Given the description of an element on the screen output the (x, y) to click on. 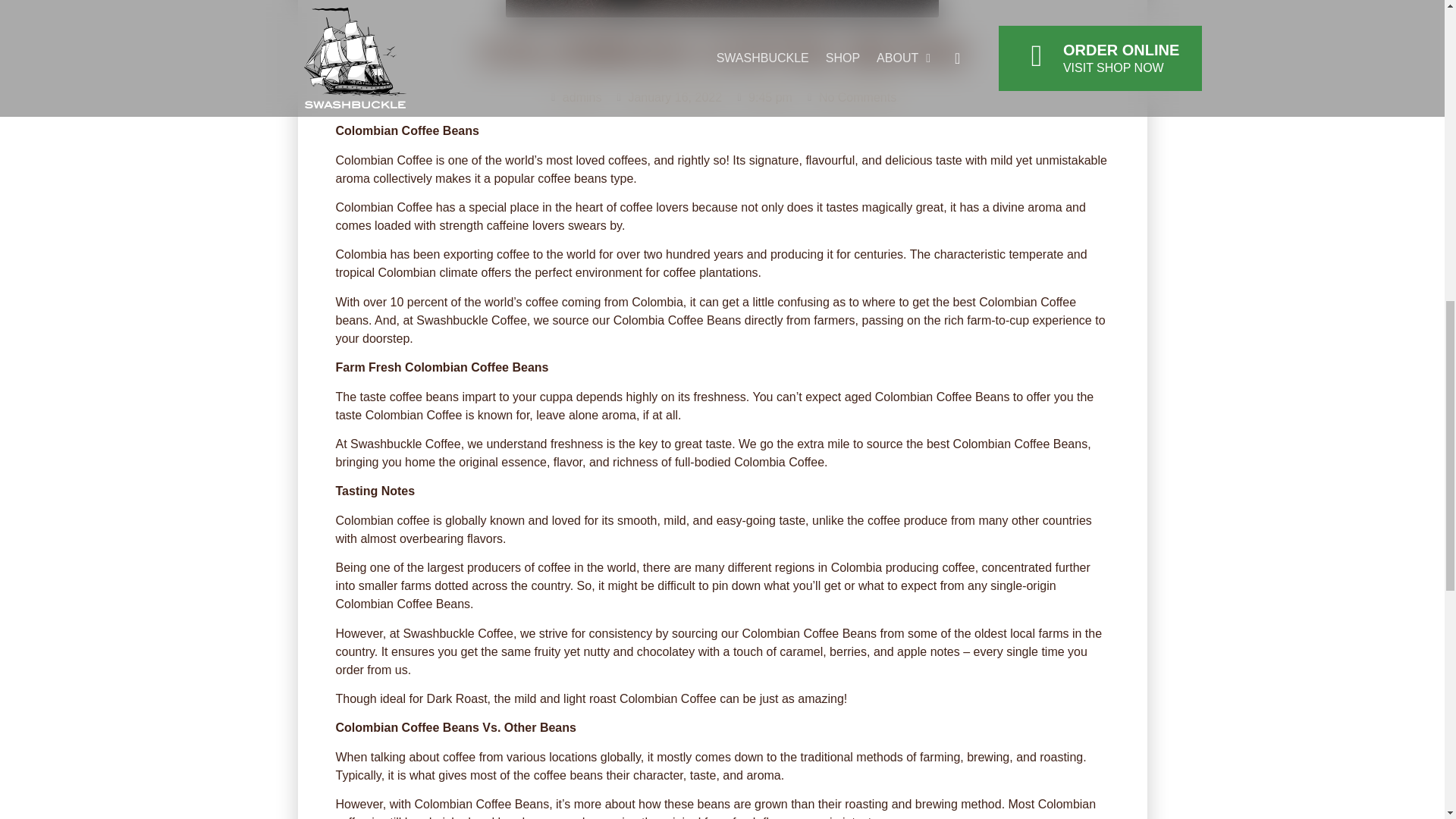
January 16, 2022 (667, 97)
admins (575, 97)
No Comments (850, 97)
